Given the description of an element on the screen output the (x, y) to click on. 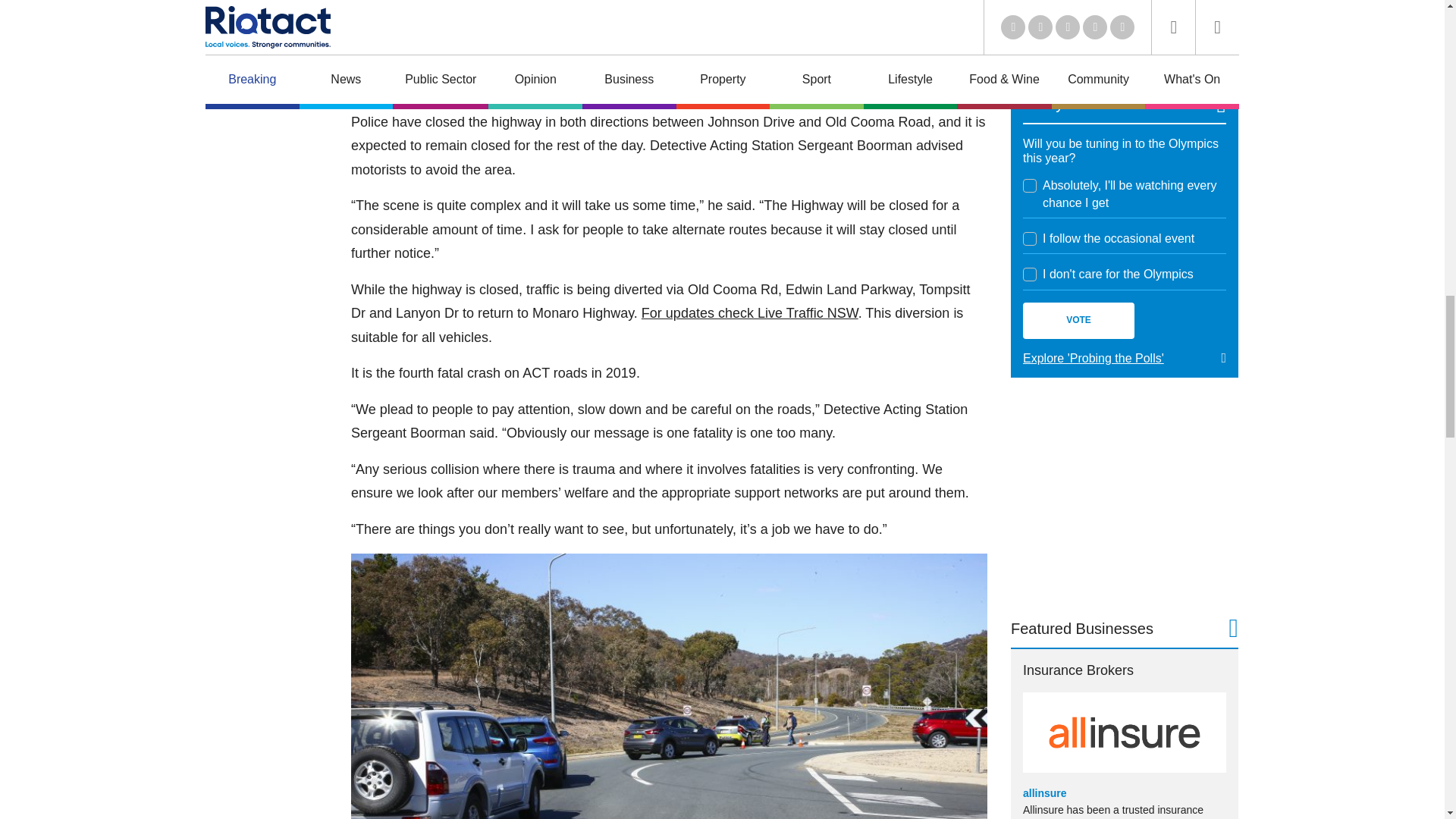
Zango Sales (1124, 27)
2043 (1029, 185)
2045 (1029, 274)
   Vote    (1078, 320)
2044 (1029, 238)
